Given the description of an element on the screen output the (x, y) to click on. 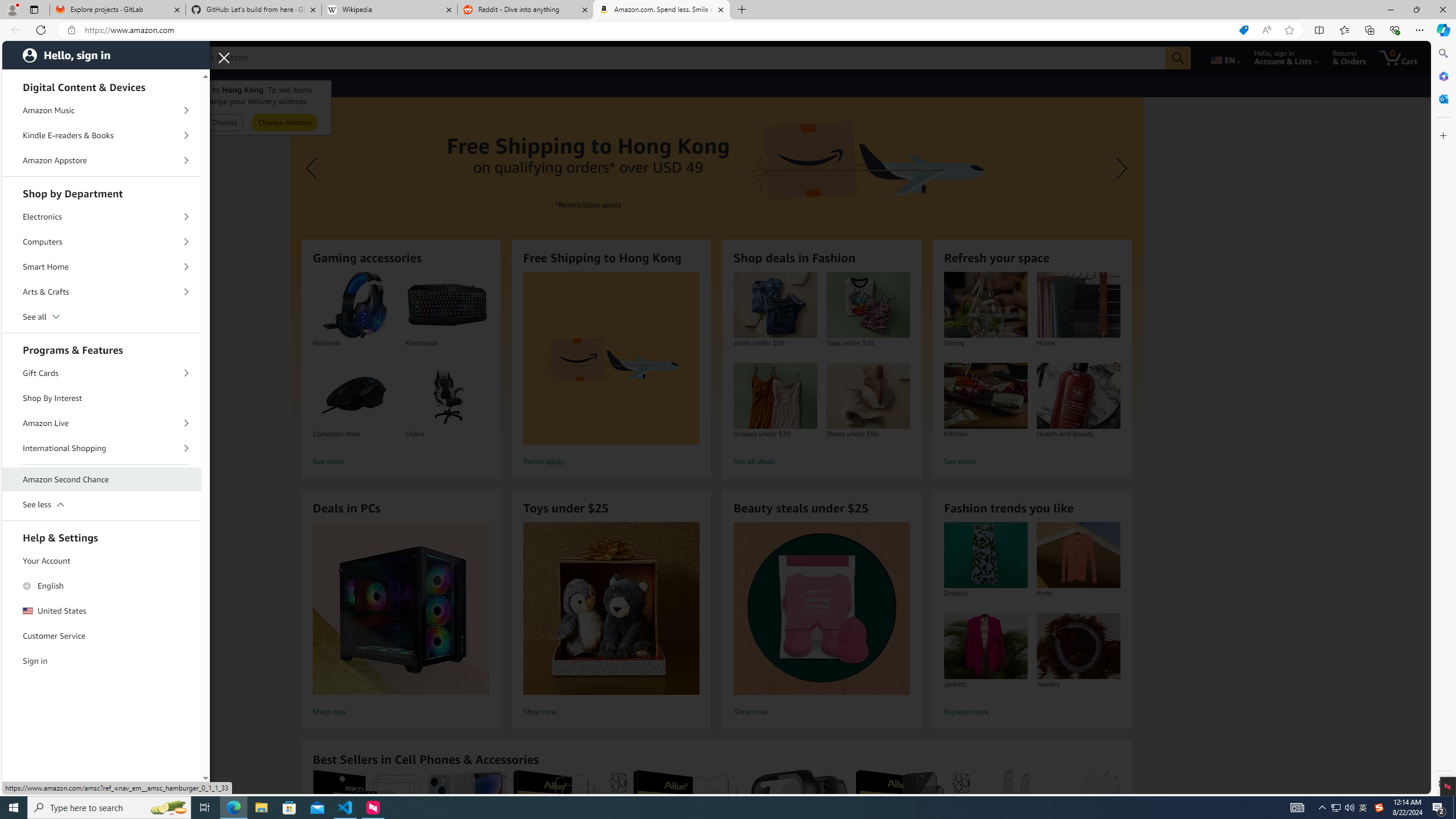
See all (101, 317)
Kindle E-readers & Books (101, 135)
See less (101, 504)
Arts & Crafts (101, 292)
Smart Home (101, 266)
Arts & Crafts (101, 291)
Help & Settings (101, 536)
Customer Service (101, 636)
Amazon Live (101, 422)
Amazon Second Chance (101, 479)
Shop By Interest (101, 398)
Your Account (101, 561)
